Given the description of an element on the screen output the (x, y) to click on. 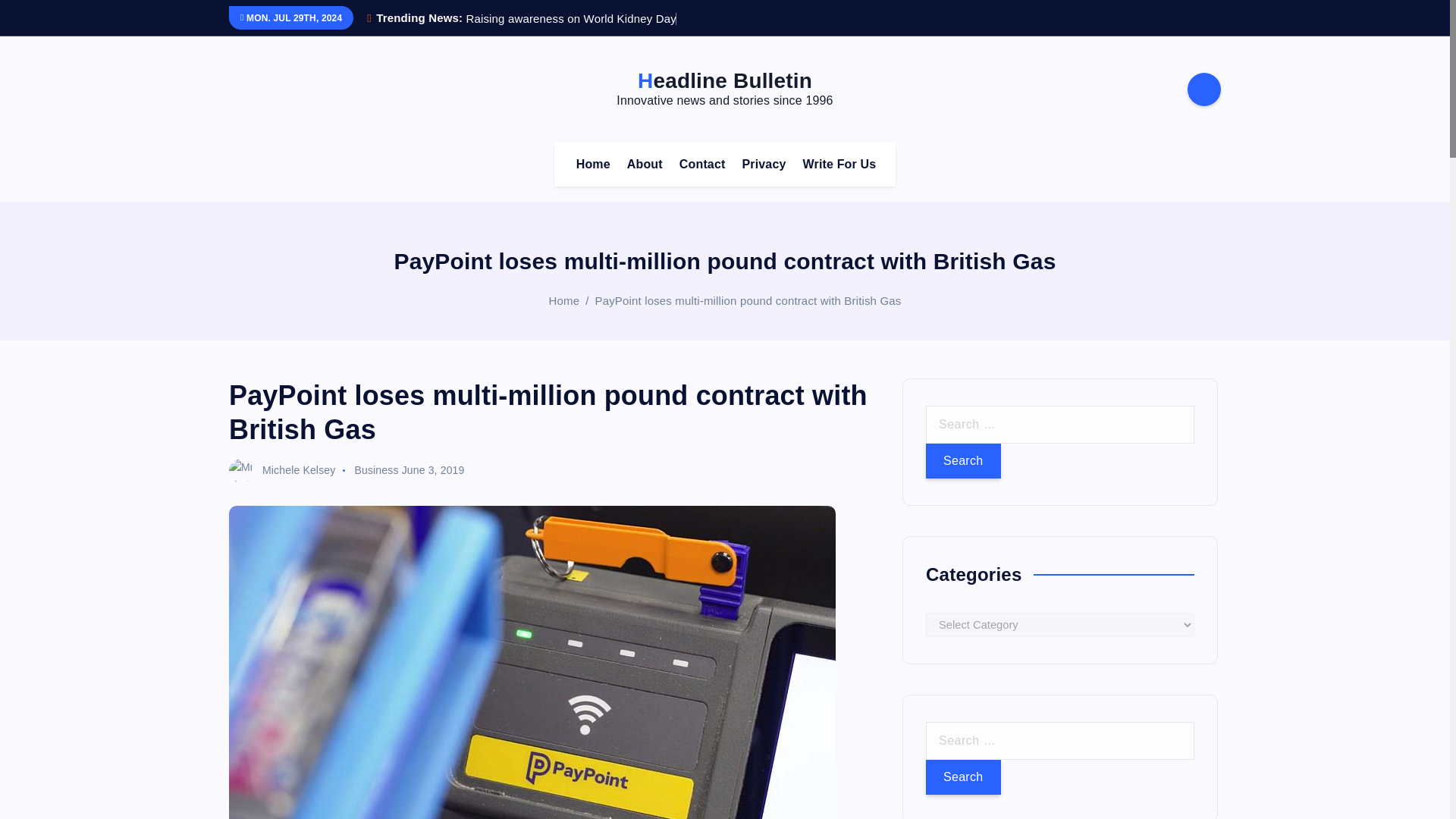
Write For Us (839, 164)
Contact (702, 164)
Michele Kelsey (281, 469)
Home (593, 164)
PayPoint loses multi-million pound contract with British Gas (748, 300)
Home (593, 164)
Search (963, 460)
Privacy (763, 164)
Home (563, 300)
Business (375, 469)
Headline Bulletin (724, 80)
Search (963, 777)
Search (963, 460)
Search (963, 777)
About (644, 164)
